Given the description of an element on the screen output the (x, y) to click on. 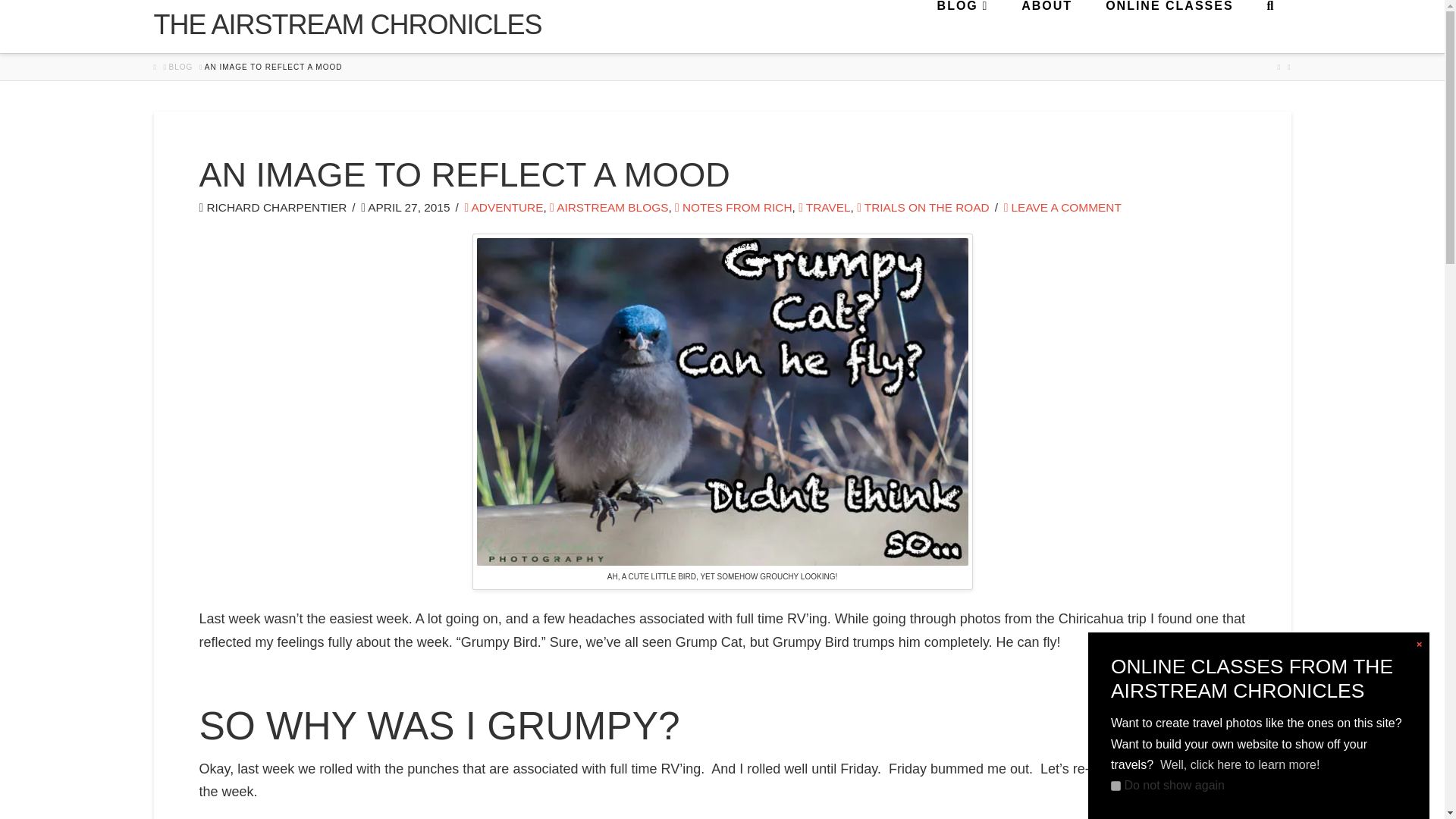
THE AIRSTREAM CHRONICLES (346, 24)
TRIALS ON THE ROAD (923, 206)
ADVENTURE (503, 206)
1 (1115, 786)
BLOG (962, 26)
BLOG (180, 67)
AIRSTREAM BLOGS (609, 206)
ONLINE CLASSES (1168, 26)
AN IMAGE TO REFLECT A MOOD (273, 67)
NOTES FROM RICH (733, 206)
ABOUT (1045, 26)
You Are Here (273, 67)
LEAVE A COMMENT (1062, 206)
TRAVEL (823, 206)
